Given the description of an element on the screen output the (x, y) to click on. 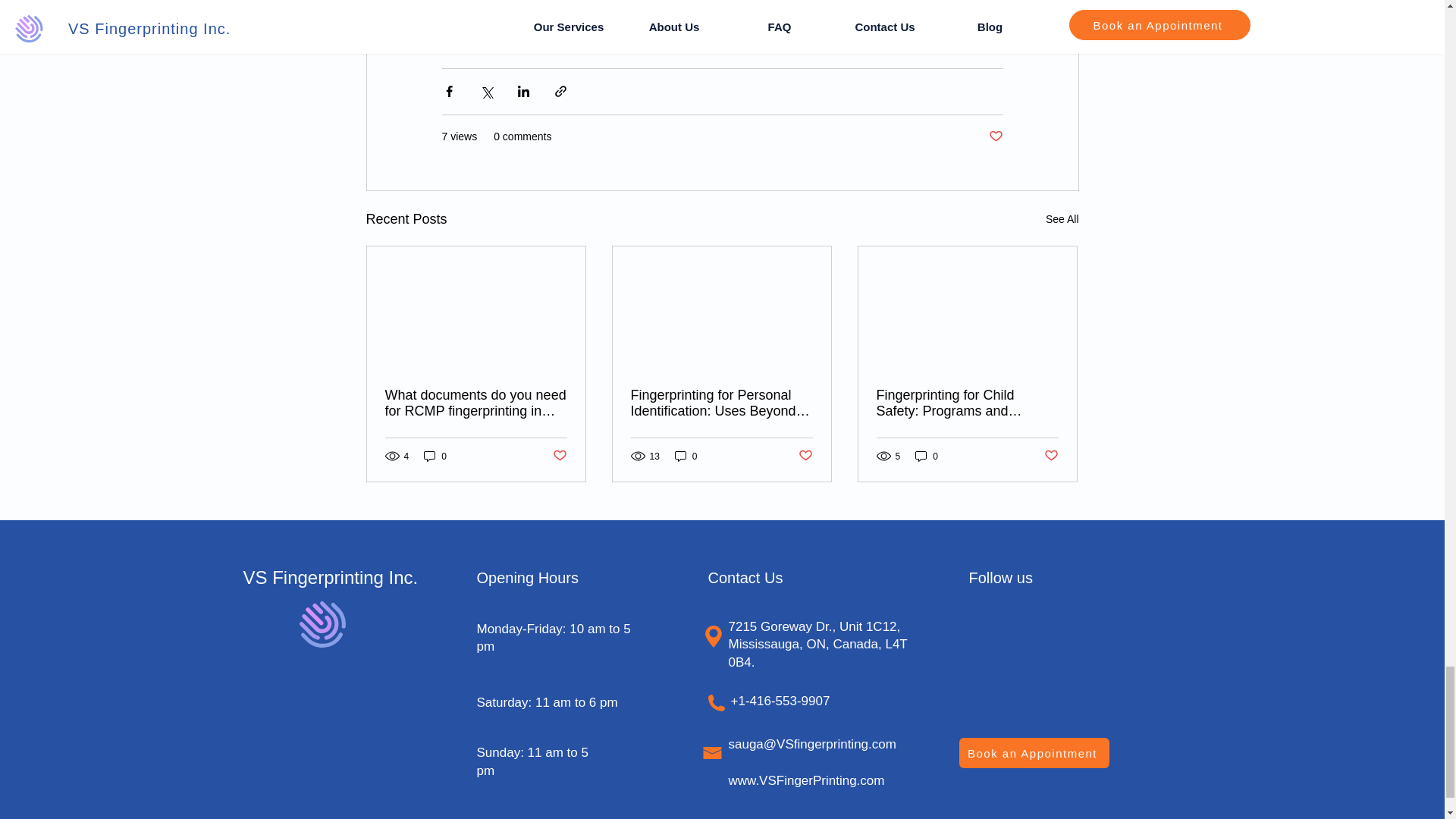
Post not marked as liked (995, 136)
Contact VS Fingerprinting Inc. now  (847, 2)
Post not marked as liked (558, 455)
0 (435, 455)
See All (1061, 219)
